Given the description of an element on the screen output the (x, y) to click on. 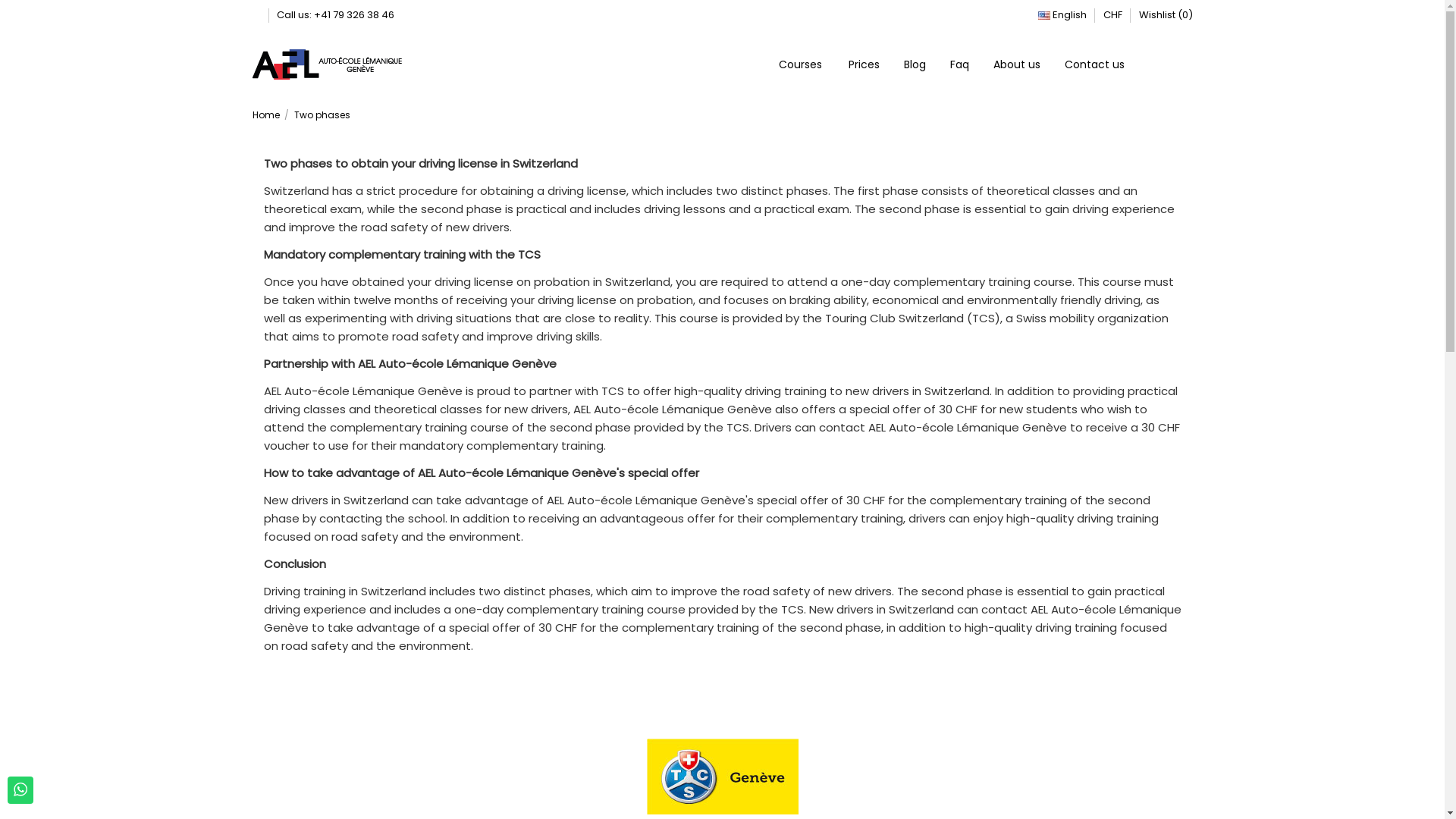
Contact us Element type: text (1093, 64)
CHF Element type: text (1111, 14)
About us Element type: text (1015, 64)
Courses Element type: text (801, 64)
Wishlist (0) Element type: text (1165, 14)
Blog Element type: text (913, 64)
English Element type: text (1061, 14)
Home Element type: text (266, 114)
Prices Element type: text (863, 64)
Call us: +41 79 326 38 46 Element type: text (335, 14)
Faq Element type: text (958, 64)
